Given the description of an element on the screen output the (x, y) to click on. 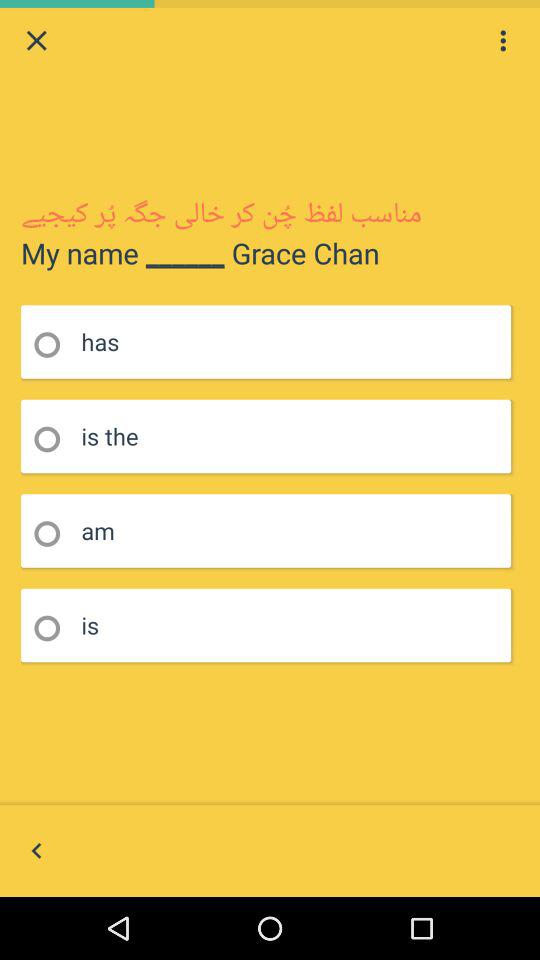
check bubble (53, 533)
